Given the description of an element on the screen output the (x, y) to click on. 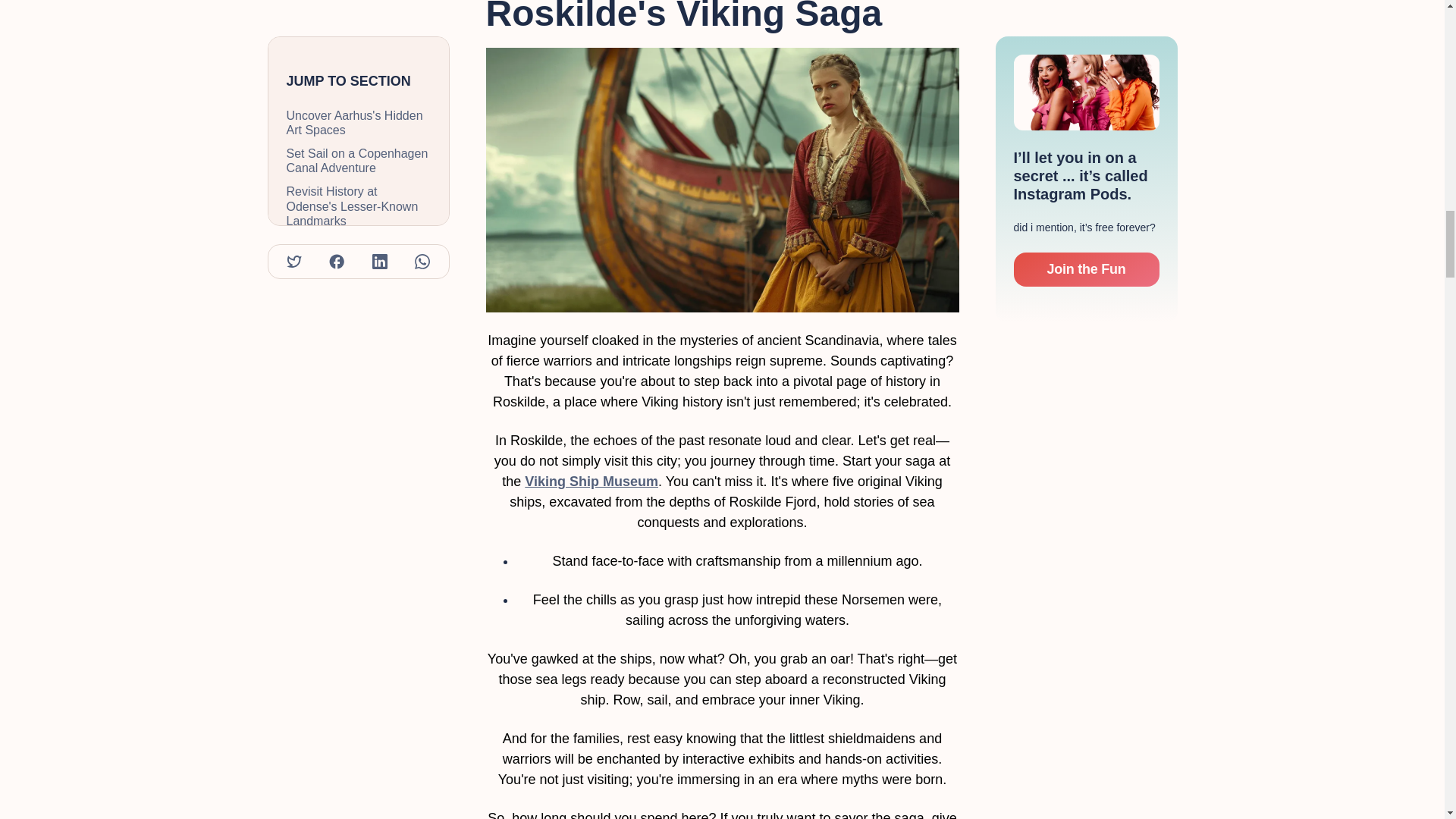
Viking Ship Museum (591, 481)
